Given the description of an element on the screen output the (x, y) to click on. 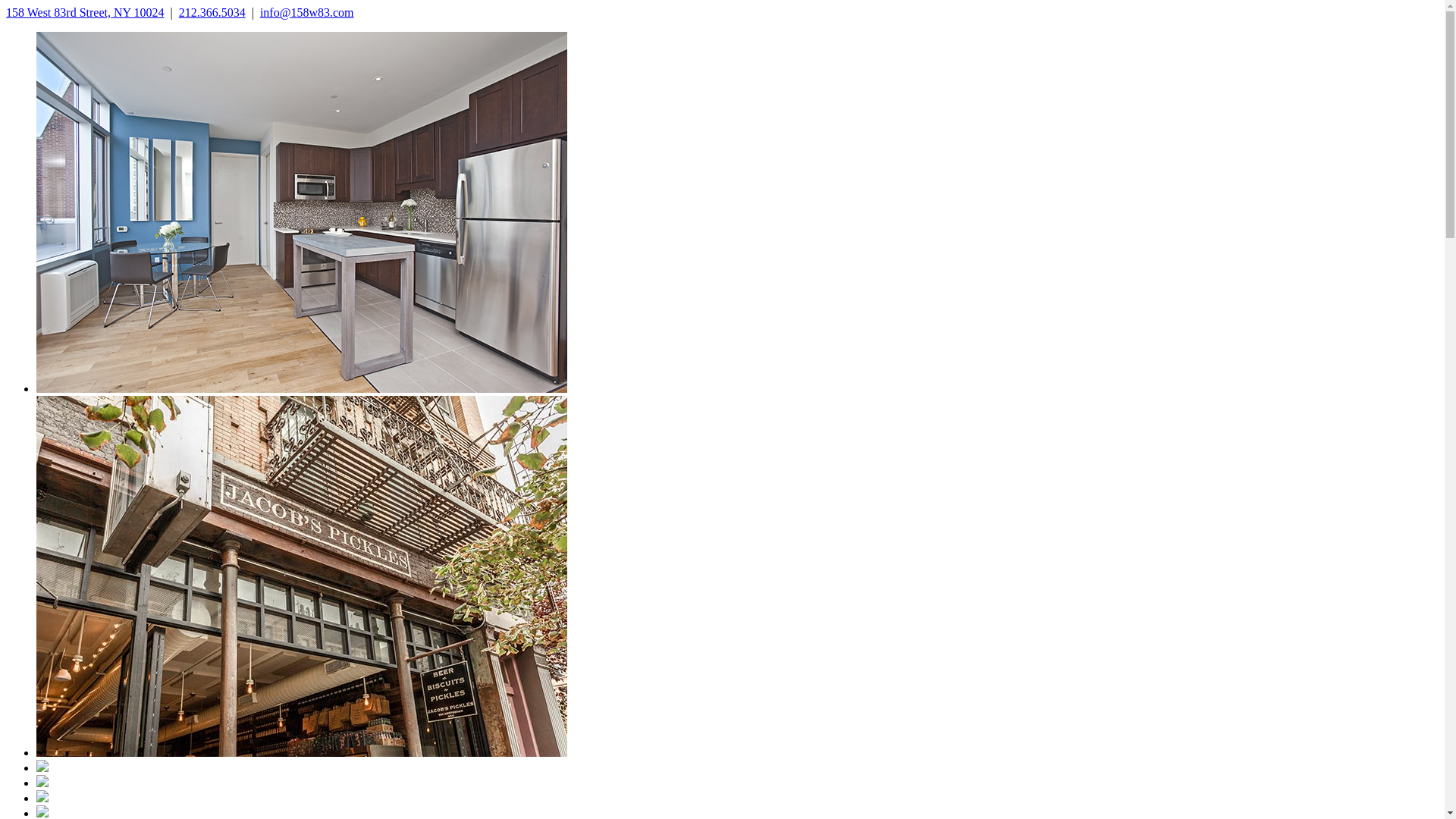
212.366.5034 Element type: text (211, 12)
158 West 83rd Street, NY 10024 Element type: text (84, 12)
info@158w83.com Element type: text (307, 12)
